Given the description of an element on the screen output the (x, y) to click on. 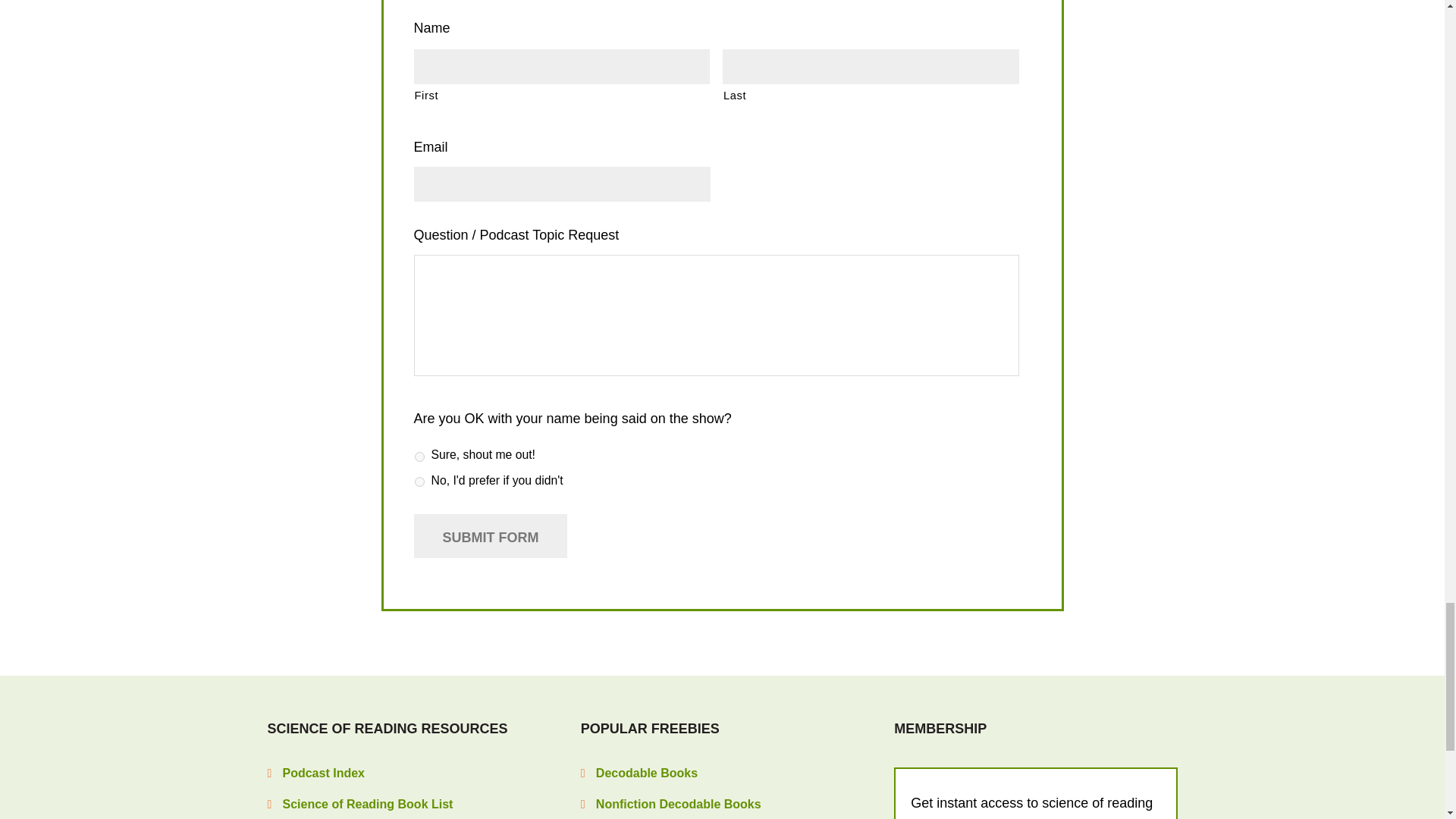
Submit Form (490, 535)
Sure, shout me out! (418, 456)
No, I'd prefer if you didn't (418, 481)
